Given the description of an element on the screen output the (x, y) to click on. 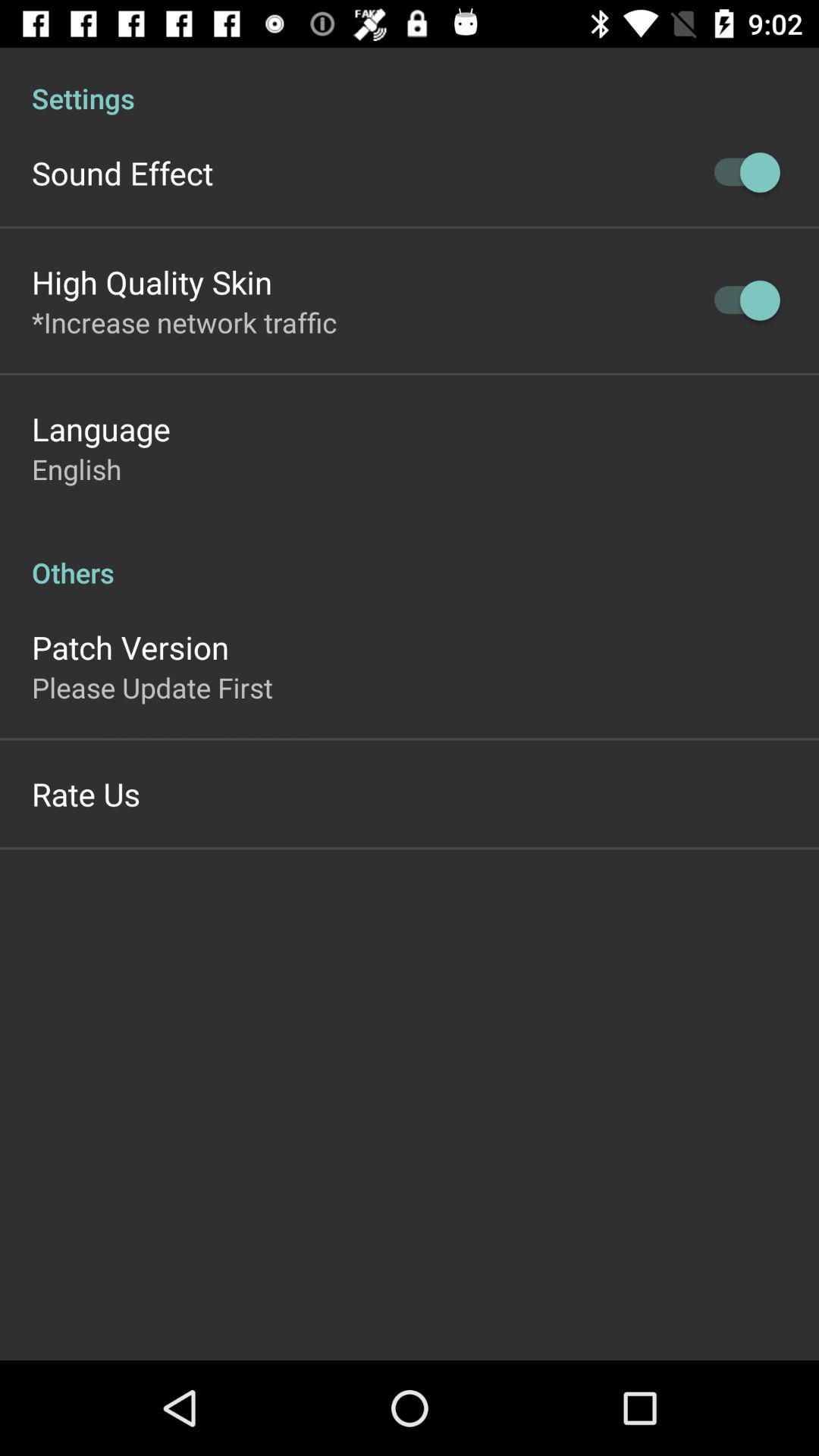
turn off the app below the *increase network traffic item (100, 428)
